Given the description of an element on the screen output the (x, y) to click on. 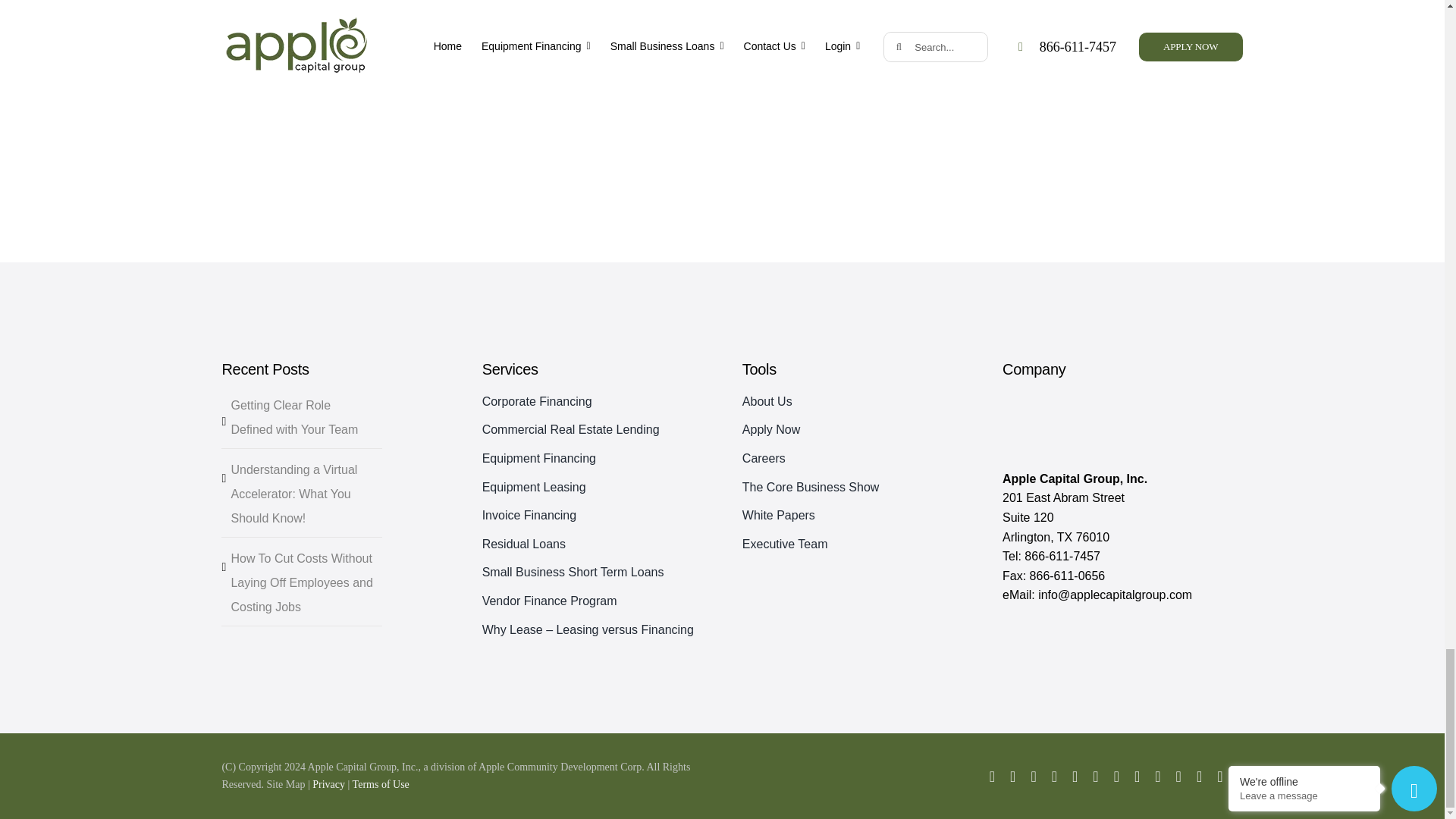
apple capital group (1078, 424)
